Given the description of an element on the screen output the (x, y) to click on. 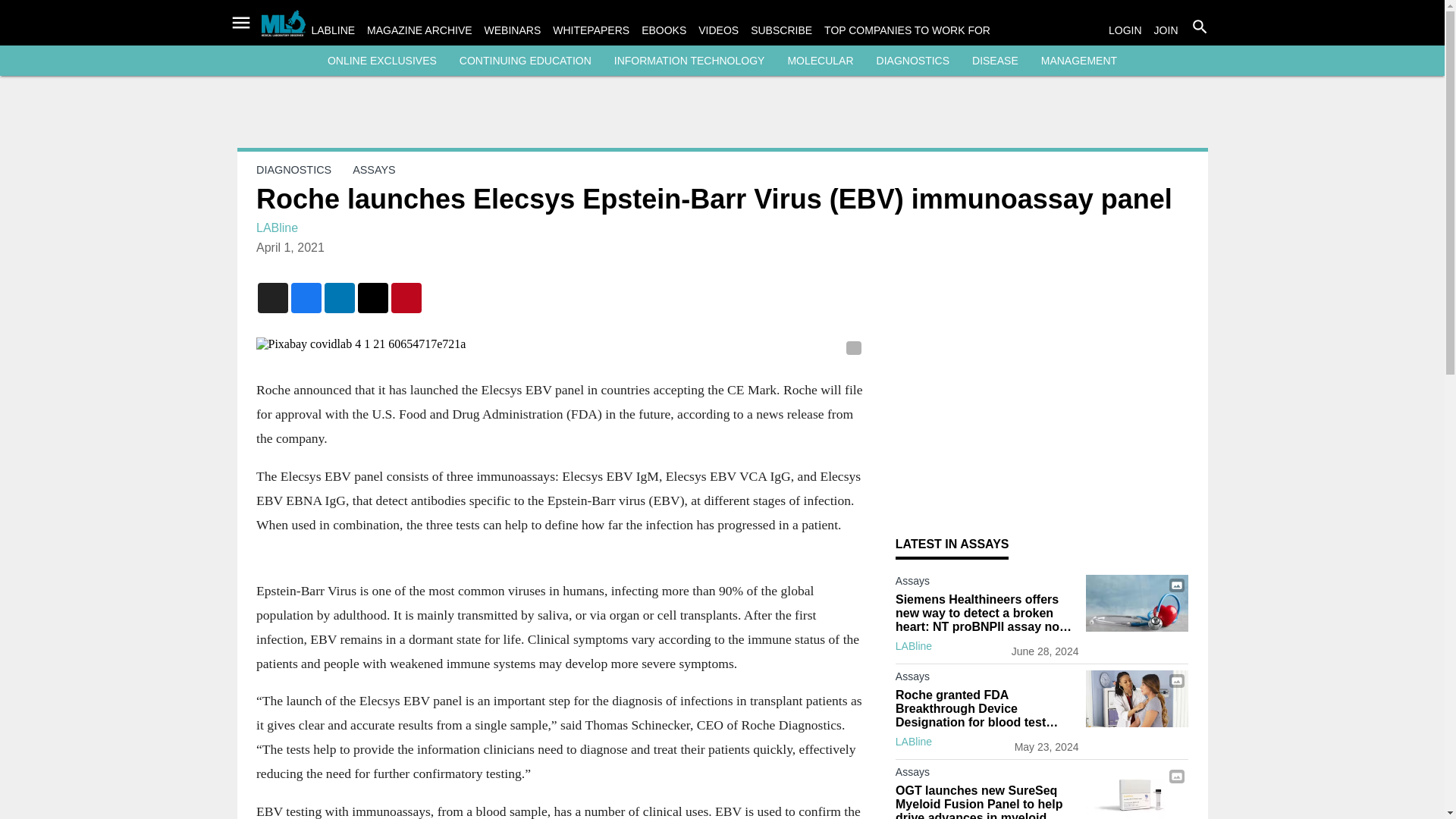
LABLINE (333, 30)
INFORMATION TECHNOLOGY (689, 60)
WEBINARS (512, 30)
MAGAZINE ARCHIVE (418, 30)
TOP COMPANIES TO WORK FOR (907, 30)
CONTINUING EDUCATION (525, 60)
JOIN (1165, 30)
DISEASE (994, 60)
LOGIN (1124, 30)
SUBSCRIBE (781, 30)
DIAGNOSTICS (912, 60)
WHITEPAPERS (590, 30)
VIDEOS (718, 30)
MANAGEMENT (1078, 60)
Pixabay covidlab 4 1 21 60654717e721a (560, 344)
